Given the description of an element on the screen output the (x, y) to click on. 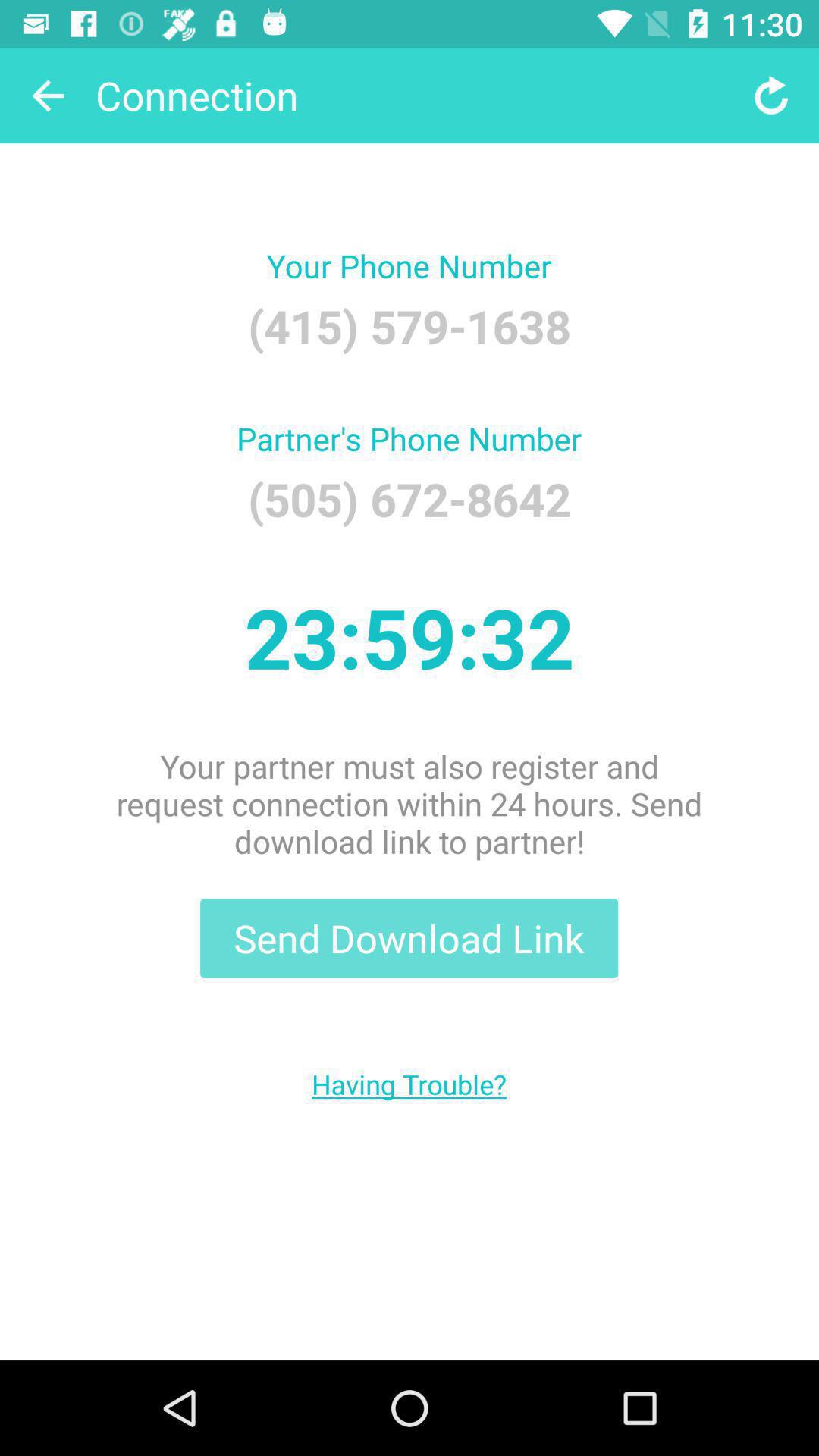
press the icon next to the connection icon (771, 95)
